Given the description of an element on the screen output the (x, y) to click on. 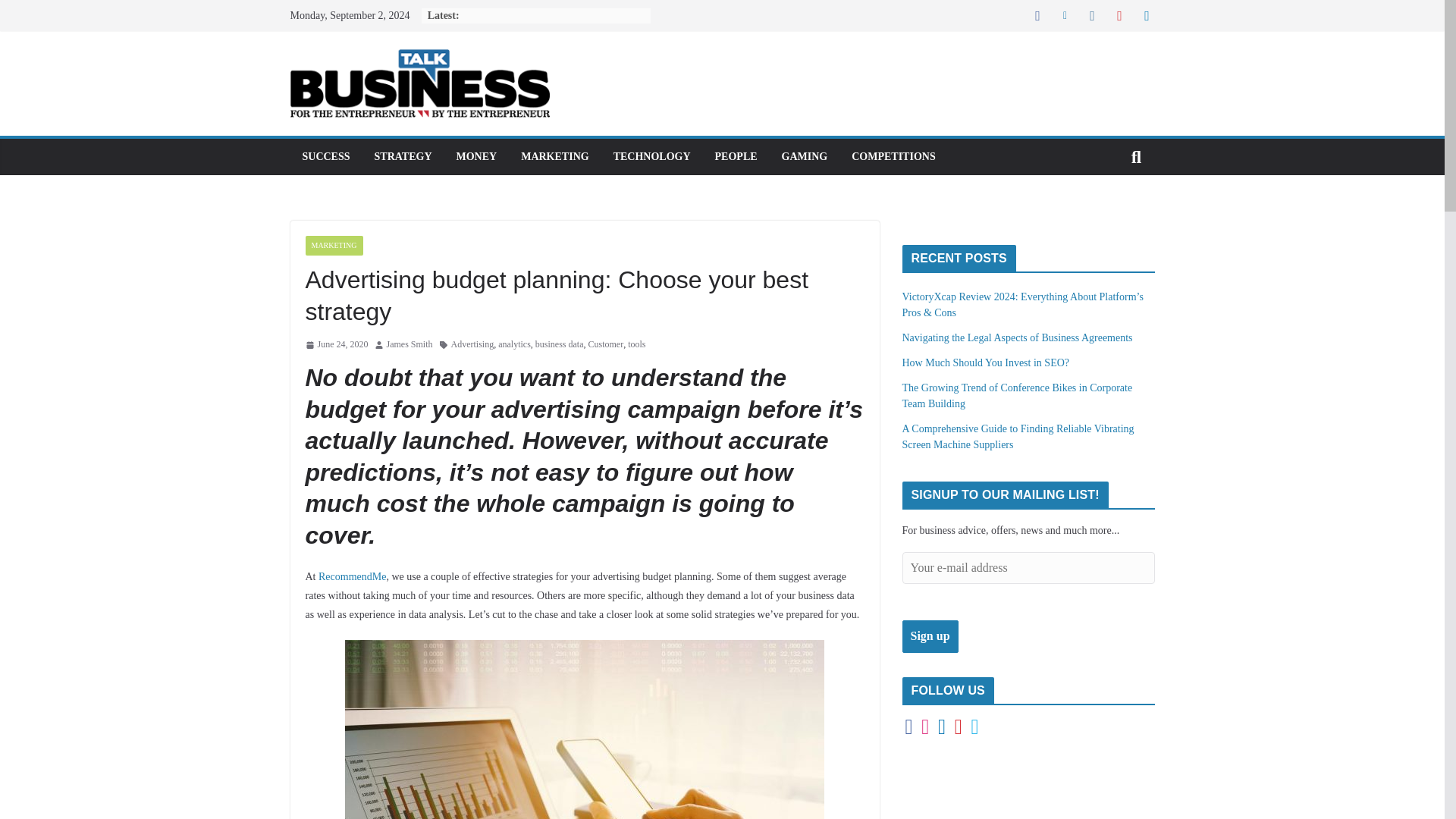
June 24, 2020 (336, 344)
tools (636, 344)
RecommendMe (351, 576)
Advertising (473, 344)
GAMING (804, 156)
James Smith (409, 344)
SUCCESS (325, 156)
Sign up (930, 635)
MONEY (477, 156)
MARKETING (554, 156)
